Given the description of an element on the screen output the (x, y) to click on. 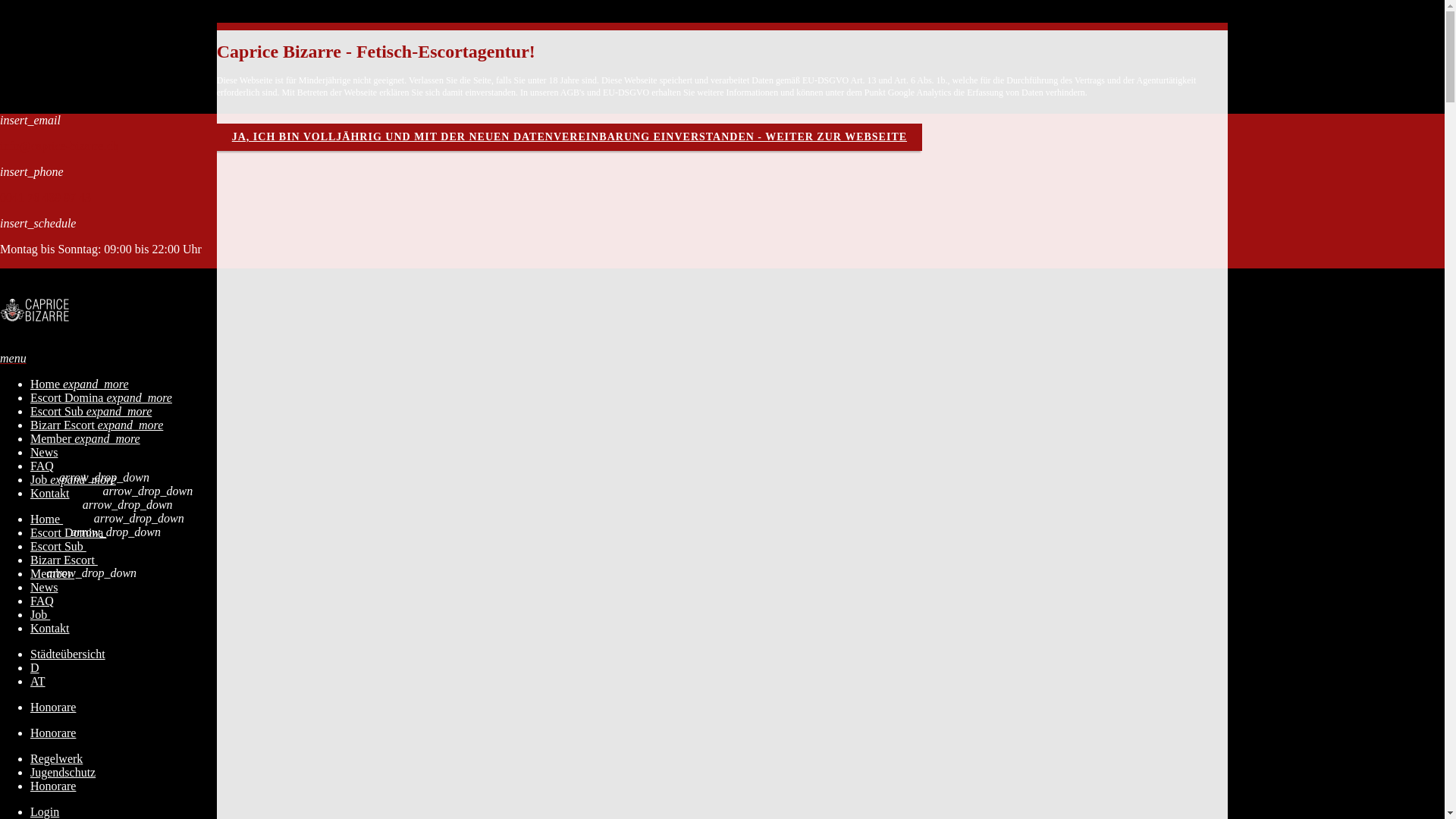
0041 76 489 97 43 Element type: text (45, 197)
D Element type: text (34, 667)
Escort Domina Element type: text (68, 532)
info@caprice-bizarre.ch Element type: text (59, 145)
FAQ Element type: text (41, 600)
Bizarr Escort Element type: text (63, 559)
Home expand_more Element type: text (79, 383)
menu Element type: text (13, 357)
Kontakt Element type: text (49, 627)
Home Element type: text (46, 518)
FAQ Element type: text (41, 465)
Escort Sub Element type: text (58, 545)
Job Element type: text (40, 614)
Bizarr Escort expand_more Element type: text (96, 424)
Jugendschutz Element type: text (62, 771)
Honorare Element type: text (52, 706)
Honorare Element type: text (52, 732)
Honorare Element type: text (52, 785)
Kontakt Element type: text (49, 492)
Regelwerk Element type: text (56, 758)
Member Element type: text (52, 573)
News Element type: text (43, 586)
Login Element type: text (44, 811)
Member expand_more Element type: text (85, 438)
Job expand_more Element type: text (73, 479)
News Element type: text (43, 451)
AT Element type: text (37, 680)
Caprice Bizarre Logo Element type: hover (37, 309)
Escort Sub expand_more Element type: text (90, 410)
Escort Domina expand_more Element type: text (101, 397)
